Given the description of an element on the screen output the (x, y) to click on. 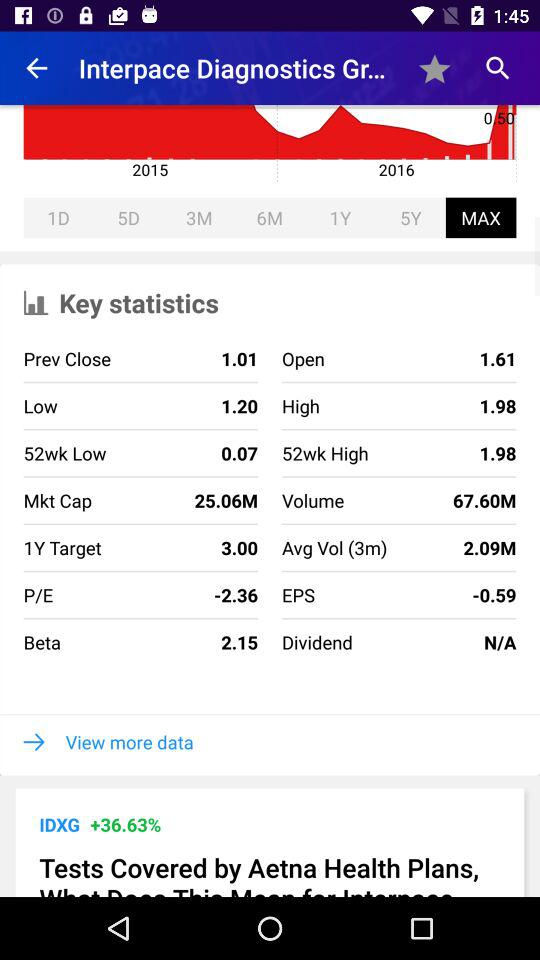
press the 3.00 (179, 547)
